Given the description of an element on the screen output the (x, y) to click on. 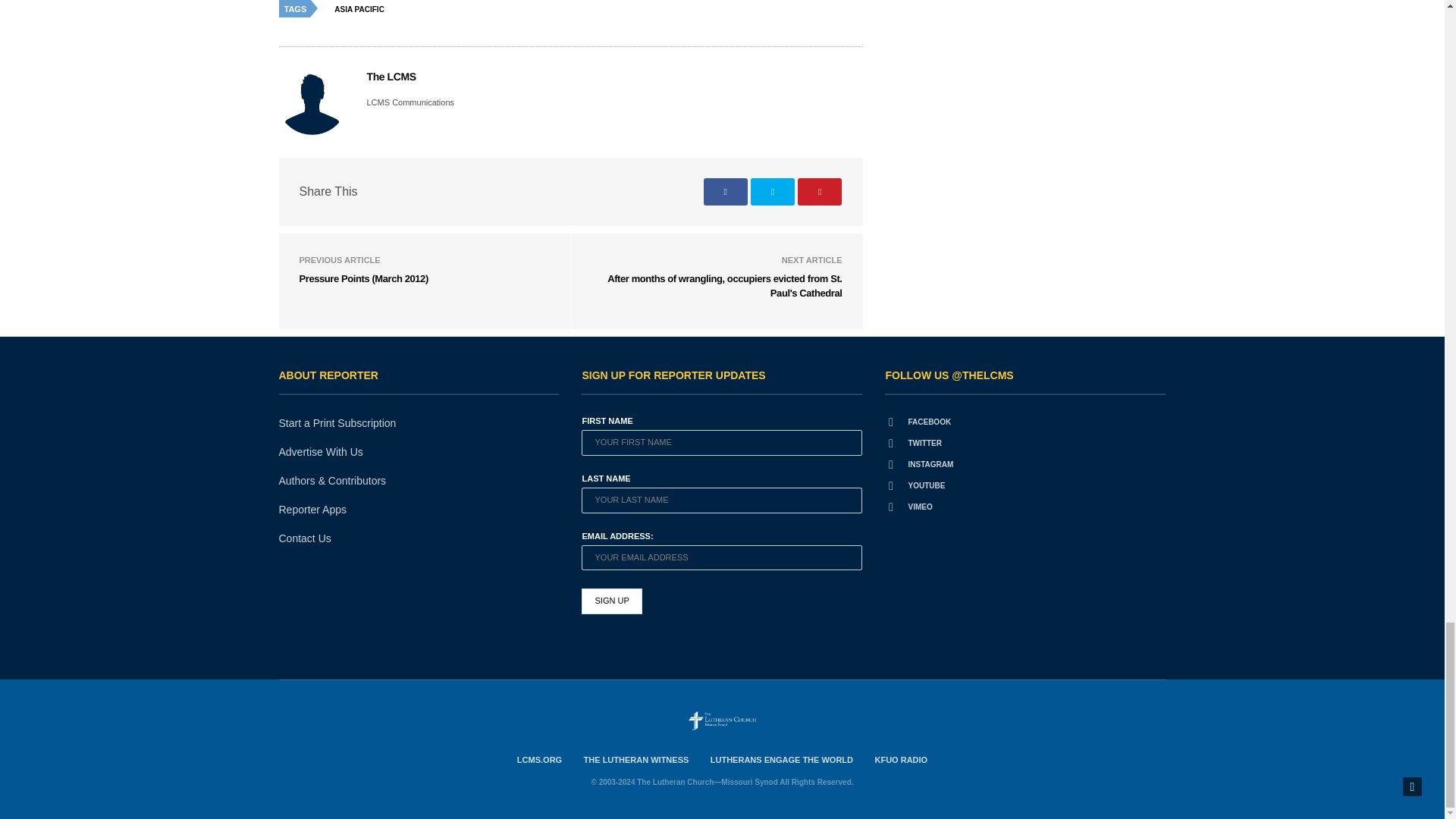
Sign up (611, 601)
